Given the description of an element on the screen output the (x, y) to click on. 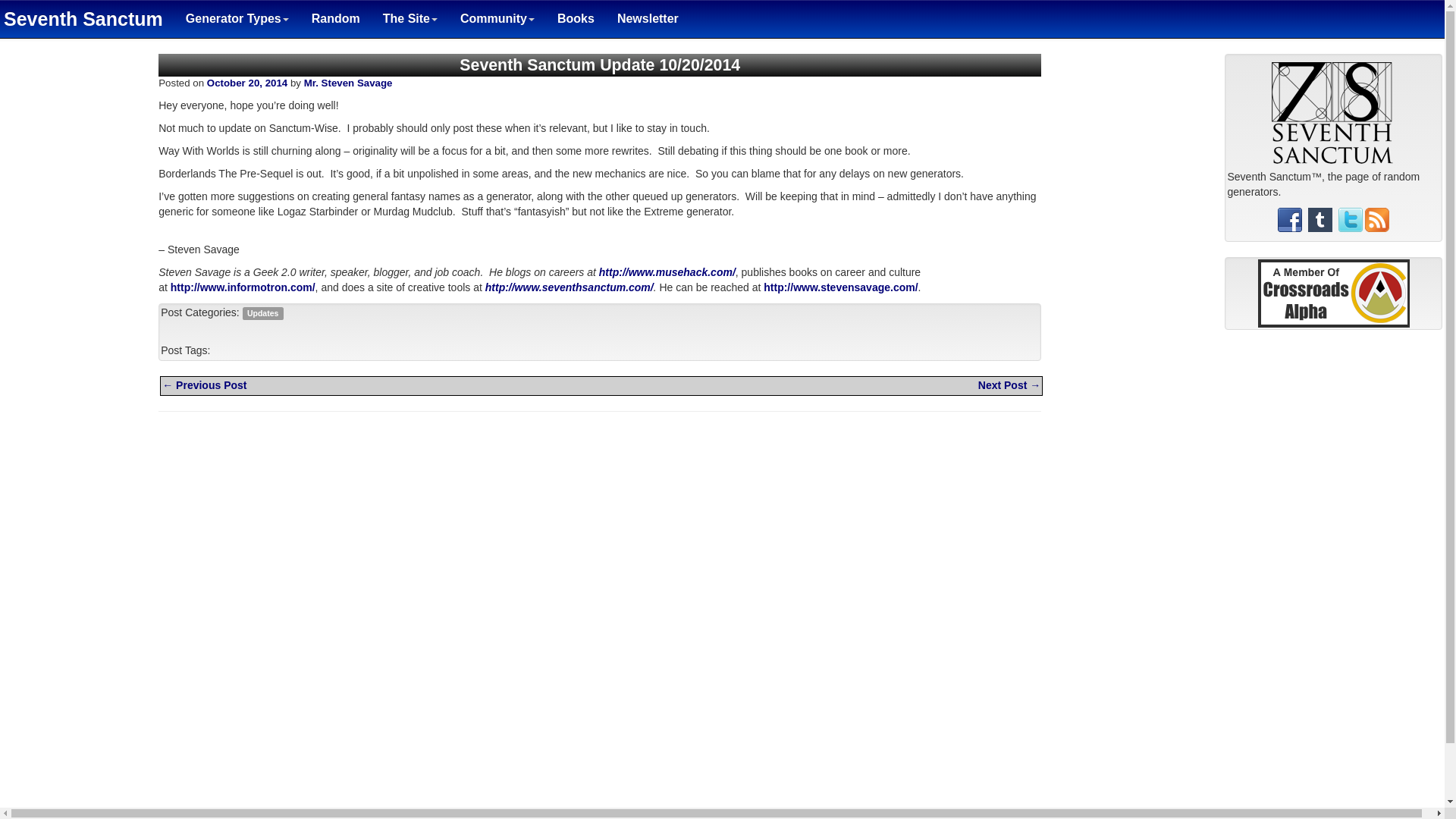
October 20, 2014 (246, 82)
Mr. Steven Savage (348, 82)
Books (575, 18)
Newsletter (647, 18)
The Site (409, 18)
View all posts in Updates (262, 312)
Community (497, 18)
Generator Types (236, 18)
View all posts by Mr. Steven Savage (348, 82)
Random (335, 18)
Seventh Sanctum (87, 18)
